Given the description of an element on the screen output the (x, y) to click on. 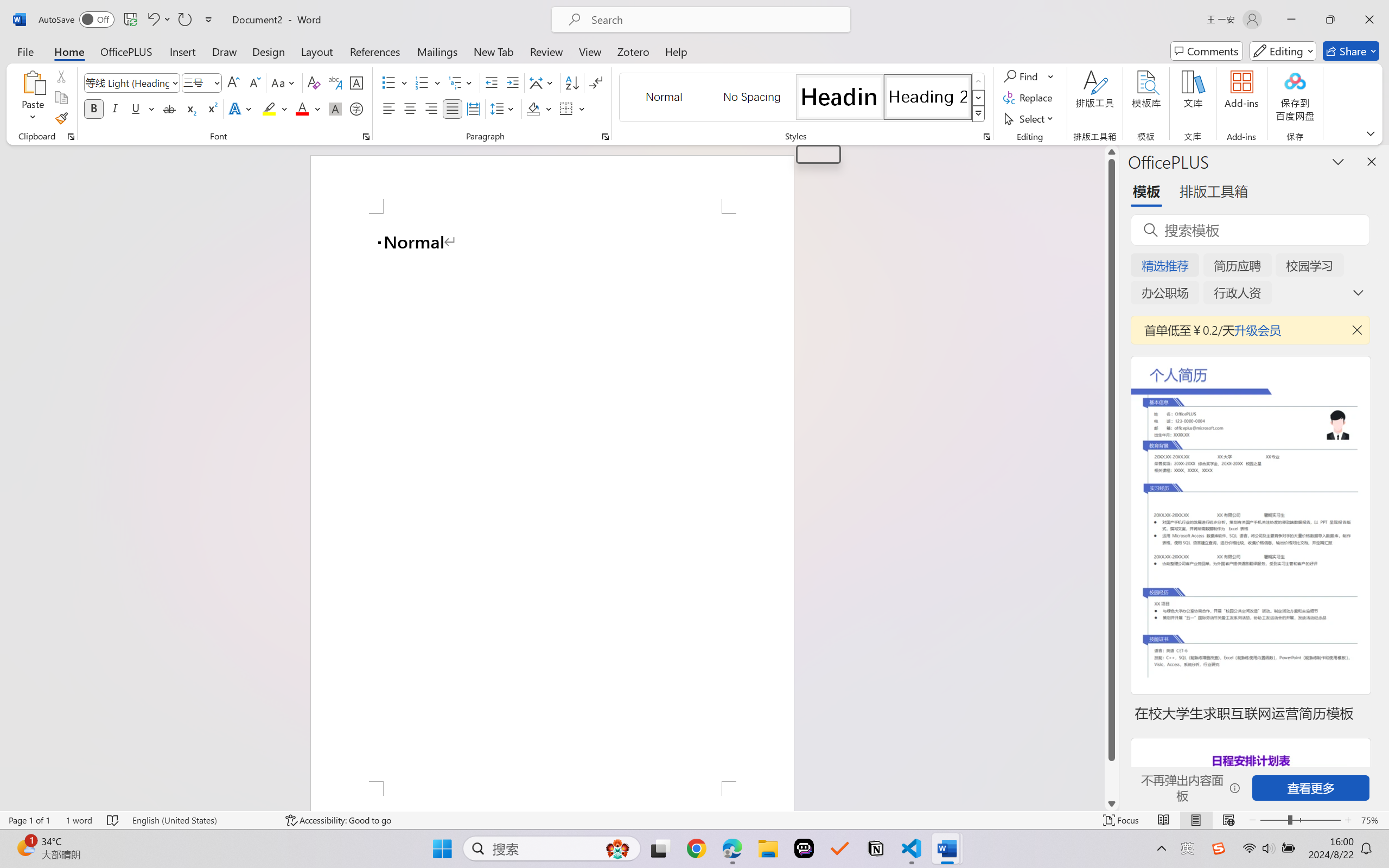
Paste (33, 97)
Borders (566, 108)
Replace... (1029, 97)
Phonetic Guide... (334, 82)
Find (1022, 75)
Layout (316, 51)
AutoSave (76, 19)
Spelling and Grammar Check No Errors (113, 819)
Open (215, 82)
Select (1030, 118)
Mailings (437, 51)
Text Effects and Typography (241, 108)
Class: NetUIScrollBar (1111, 477)
